Given the description of an element on the screen output the (x, y) to click on. 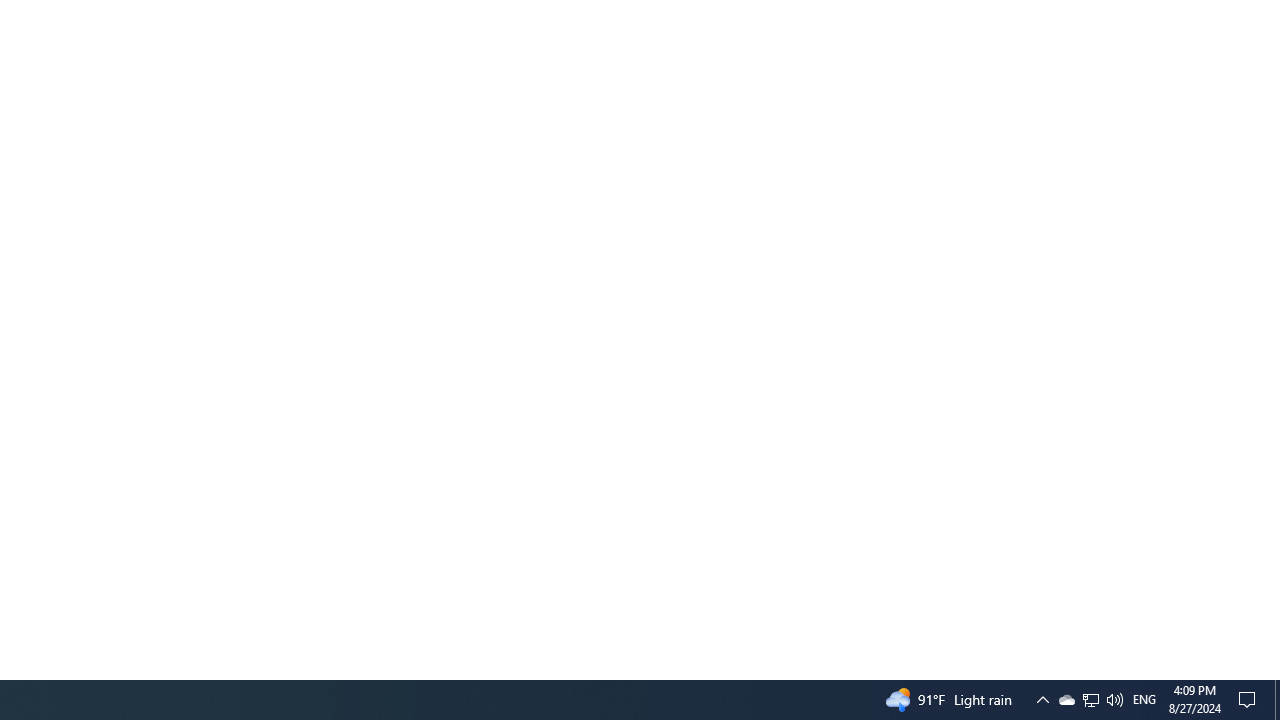
Q2790: 100% (1114, 699)
Tray Input Indicator - English (United States) (1066, 699)
User Promoted Notification Area (1144, 699)
Show desktop (1090, 699)
Action Center, No new notifications (1277, 699)
Notification Chevron (1250, 699)
